Given the description of an element on the screen output the (x, y) to click on. 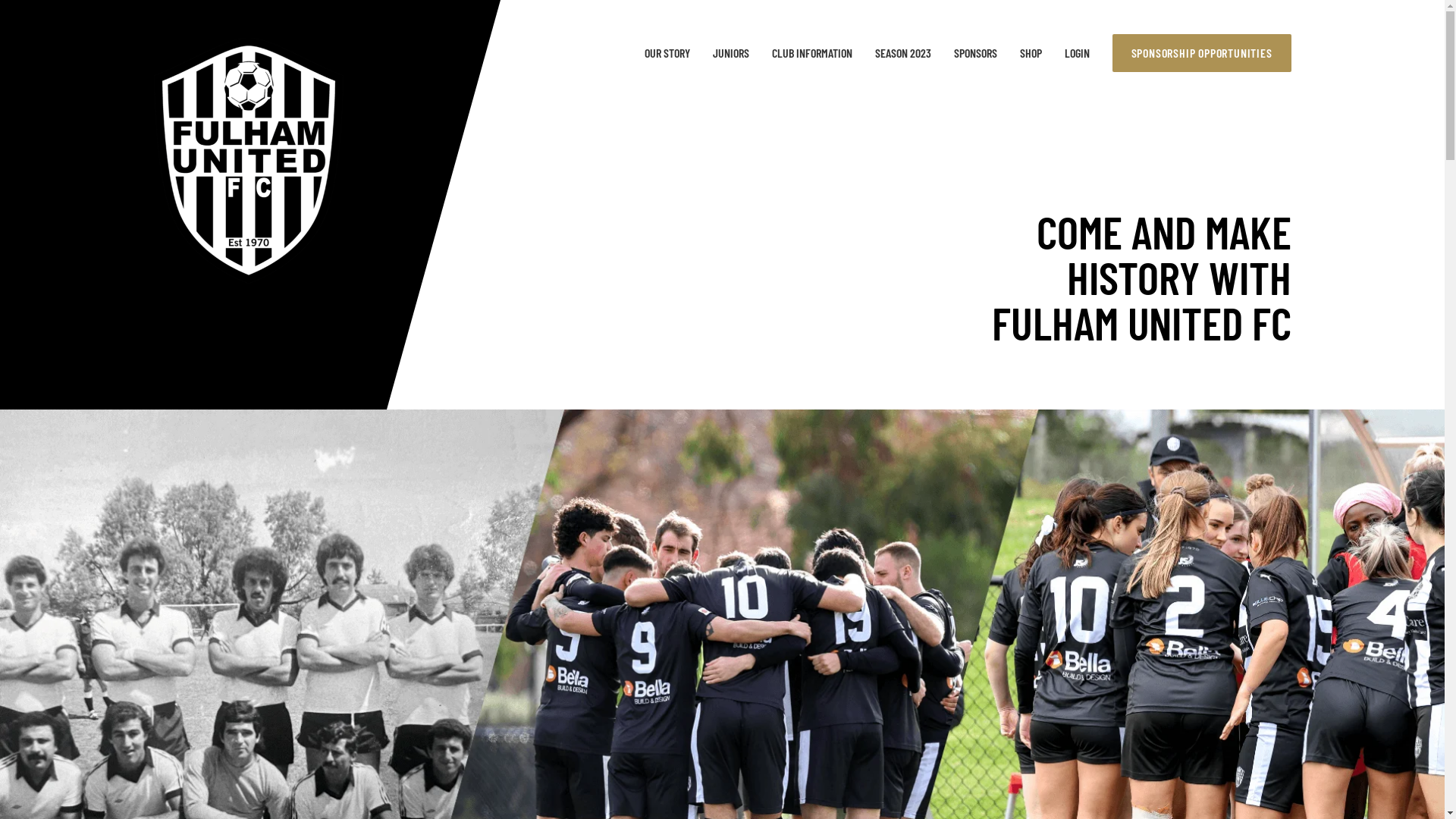
JUNIORS Element type: text (730, 52)
SPONSORS Element type: text (975, 52)
LOGIN Element type: text (1076, 52)
OUR STORY Element type: text (667, 52)
SHOP Element type: text (1030, 52)
CLUB INFORMATION Element type: text (811, 52)
SEASON 2023 Element type: text (903, 52)
SPONSORSHIP OPPORTUNITIES Element type: text (1200, 52)
